Given the description of an element on the screen output the (x, y) to click on. 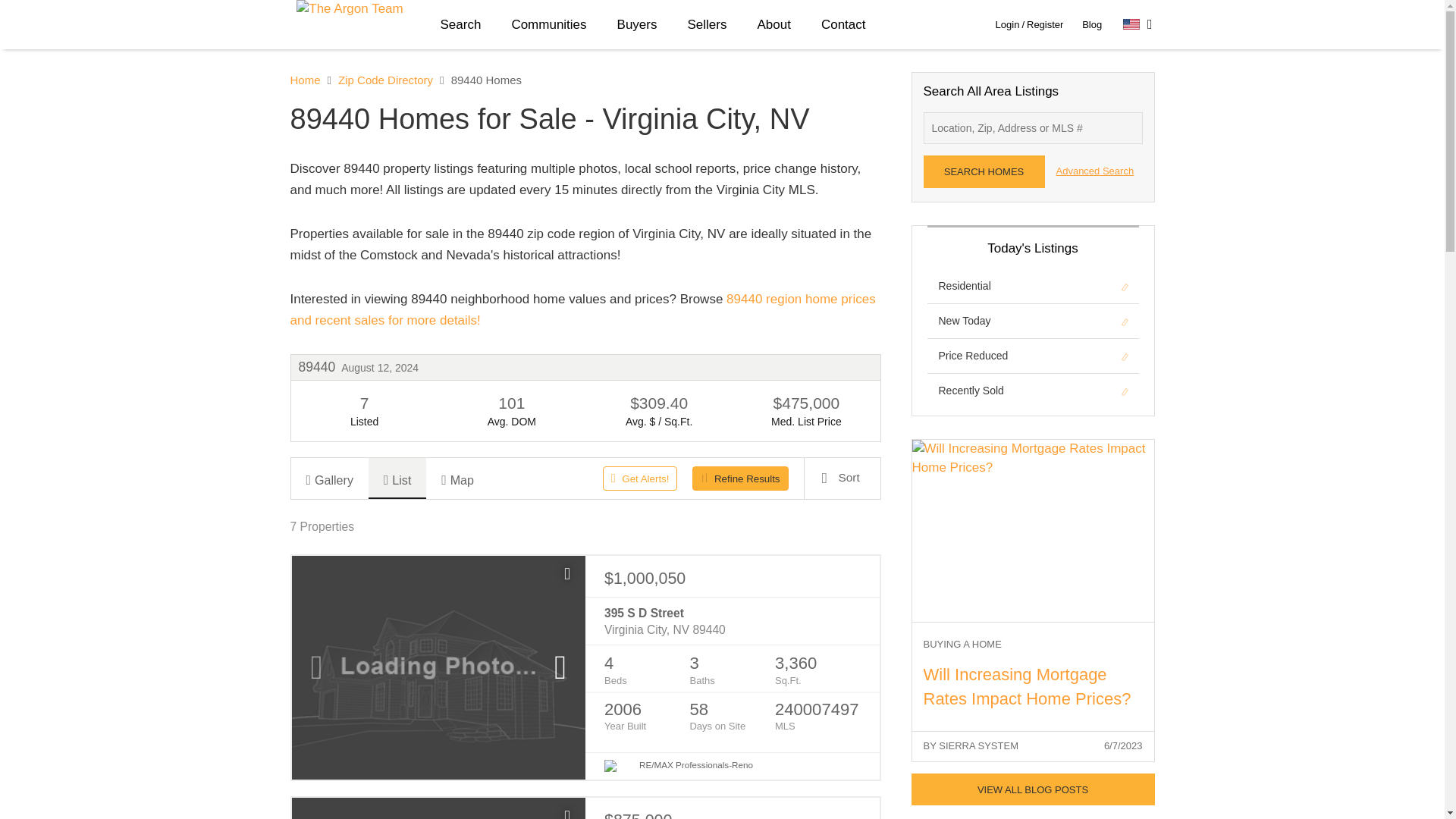
Select Language (1137, 24)
Search (460, 24)
Buyers (637, 24)
Register (1044, 24)
Sellers (706, 24)
Blog (1091, 24)
Contact (843, 24)
Communities (548, 24)
395 S D Street Virginia City,  NV 89440 (732, 622)
About (773, 24)
